Given the description of an element on the screen output the (x, y) to click on. 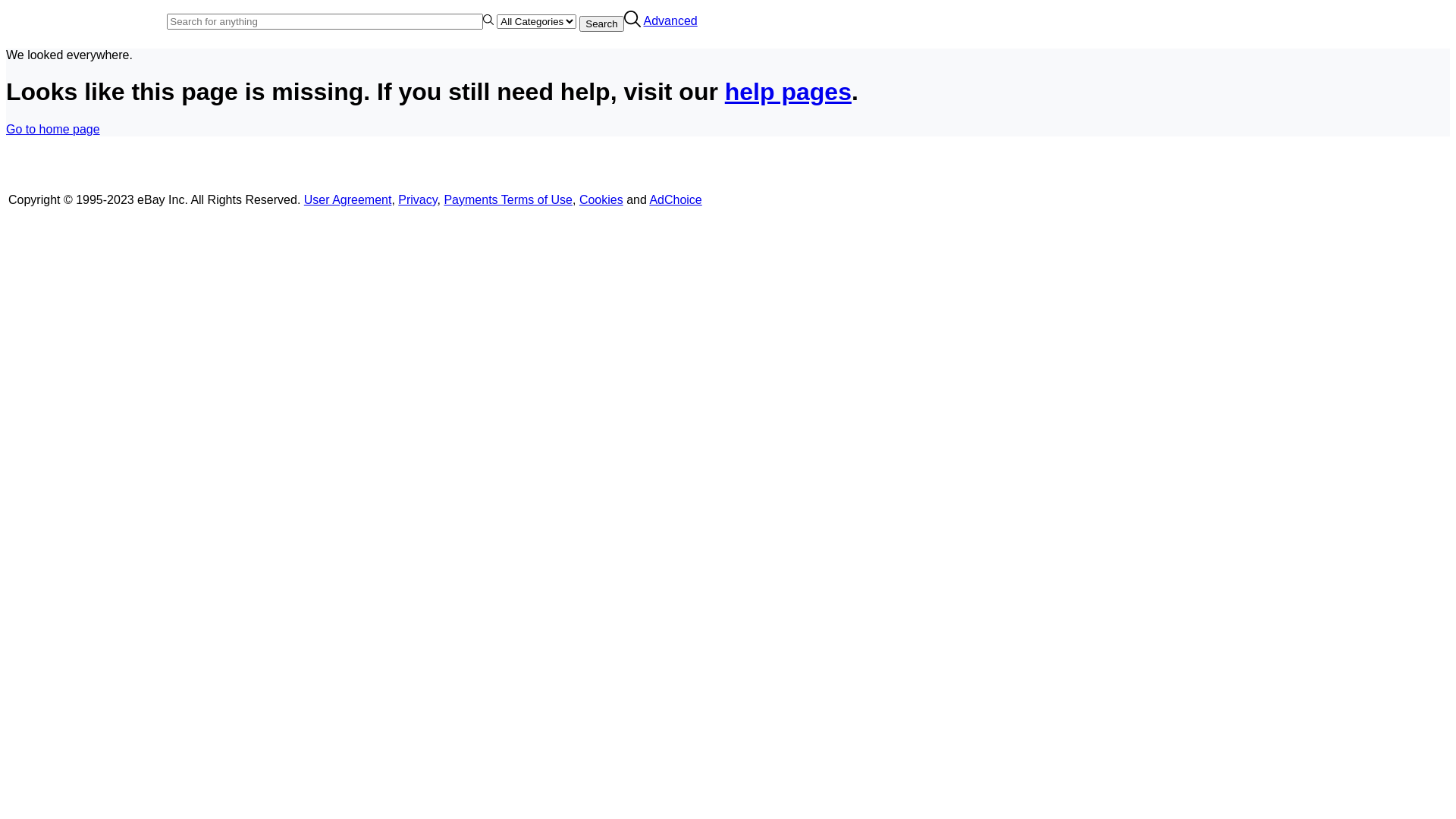
Search Element type: text (601, 23)
Go to home page Element type: text (53, 128)
Cookies Element type: text (601, 199)
Privacy Element type: text (417, 199)
help pages Element type: text (787, 91)
User Agreement Element type: text (348, 199)
AdChoice Element type: text (675, 199)
Payments Terms of Use Element type: text (507, 199)
Advanced Element type: text (670, 20)
